Given the description of an element on the screen output the (x, y) to click on. 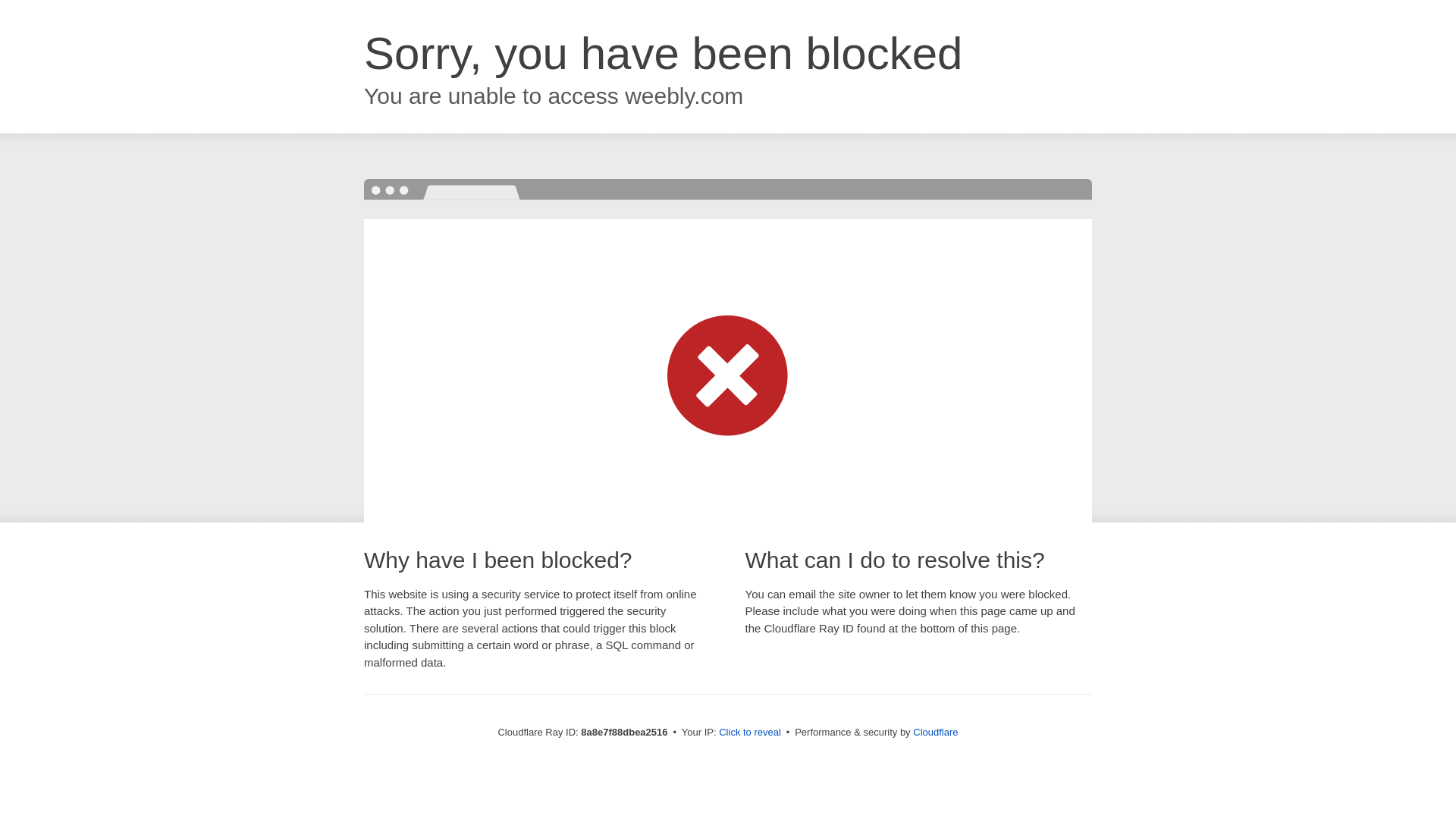
Cloudflare (935, 731)
Click to reveal (749, 732)
